Given the description of an element on the screen output the (x, y) to click on. 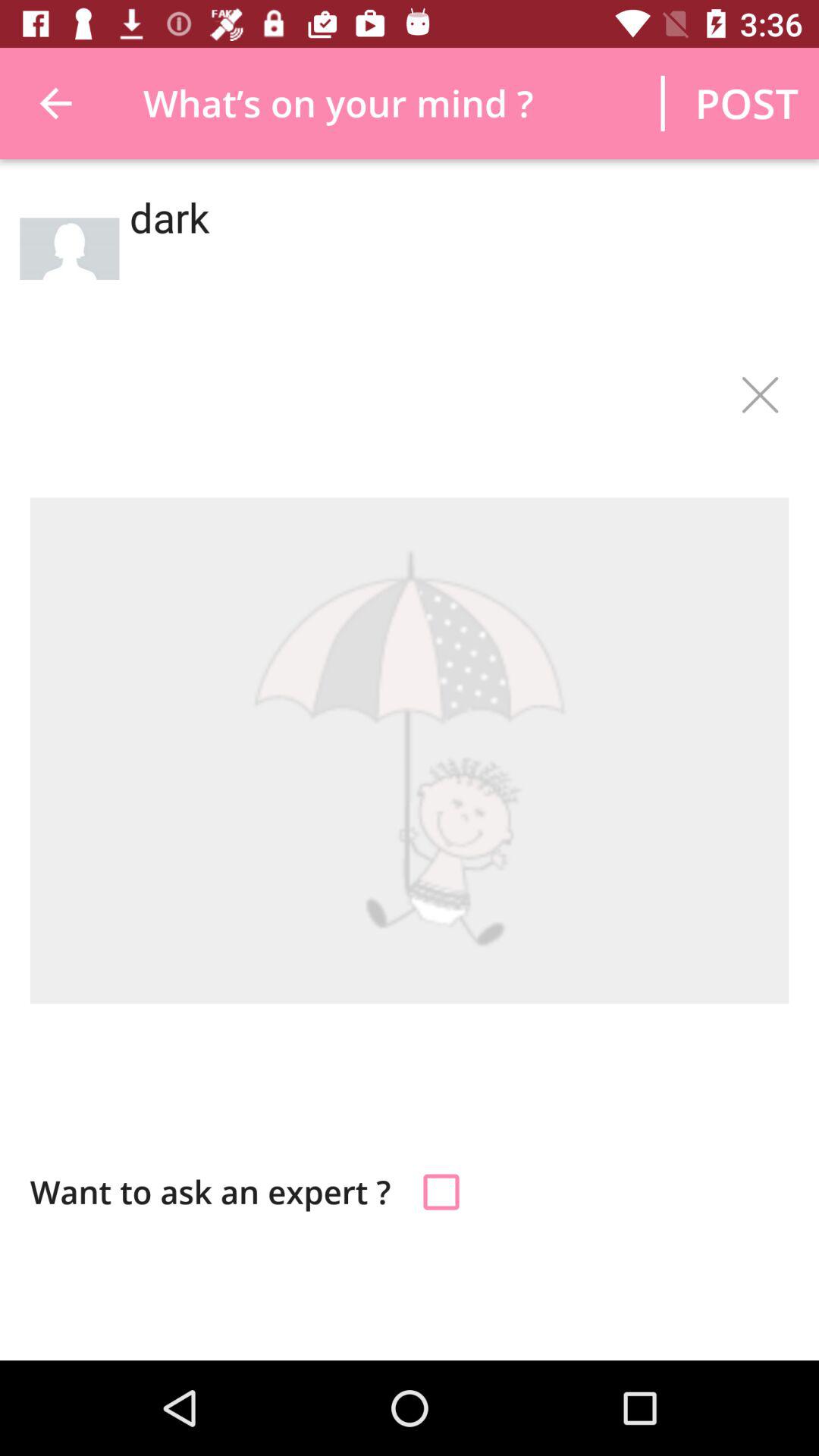
click the icon below the dark icon (759, 395)
